Given the description of an element on the screen output the (x, y) to click on. 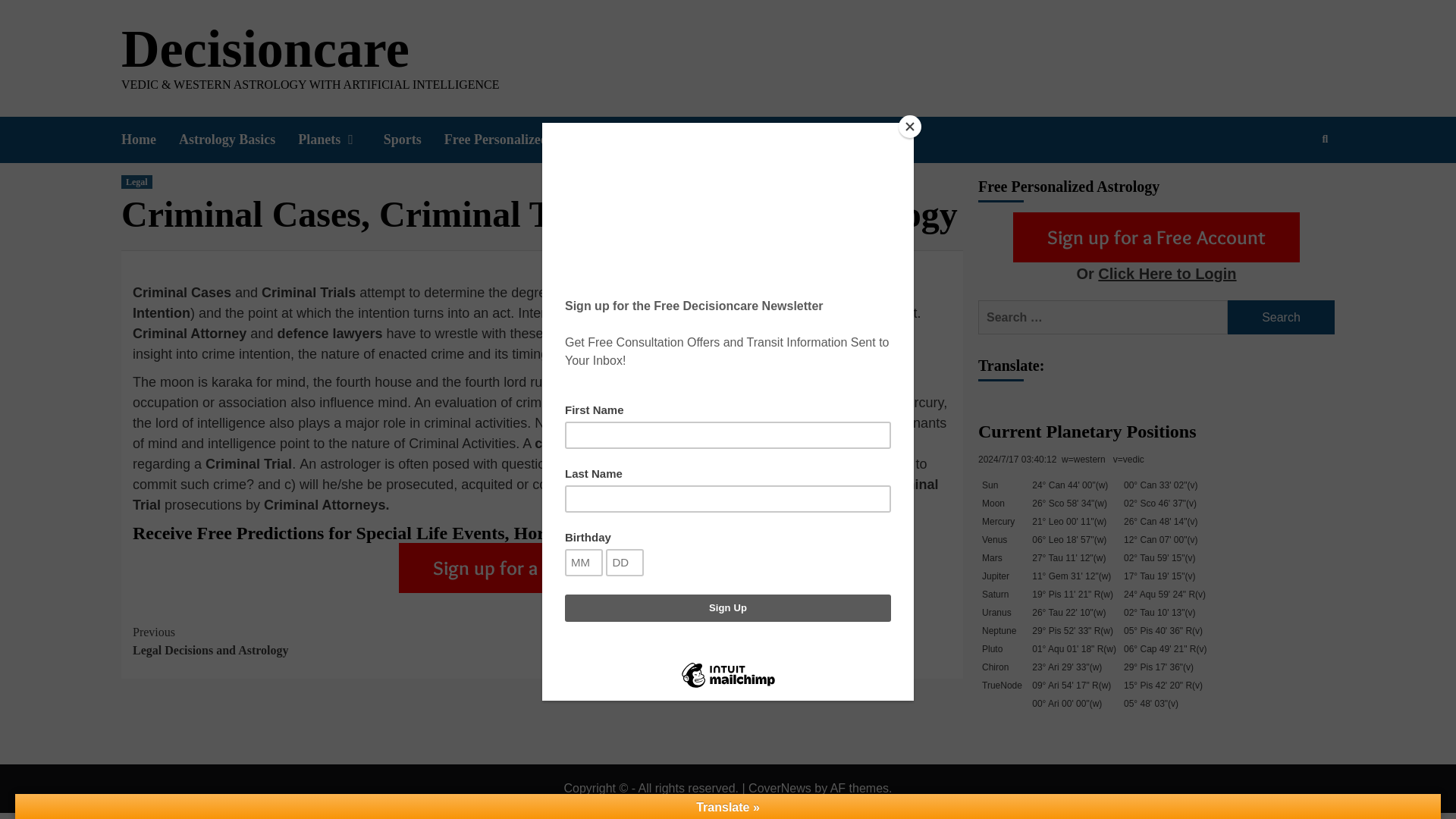
Click Here to Login (1166, 273)
Search (1289, 188)
Or (1086, 274)
Home (149, 139)
Sports (414, 139)
Legal (136, 182)
Decisioncare (336, 641)
CoverNews (264, 48)
Feedback (779, 788)
Free Personalized Astrology (669, 139)
Search (537, 139)
Astrology Basics (1281, 317)
Planets (238, 139)
Shop (341, 139)
